Given the description of an element on the screen output the (x, y) to click on. 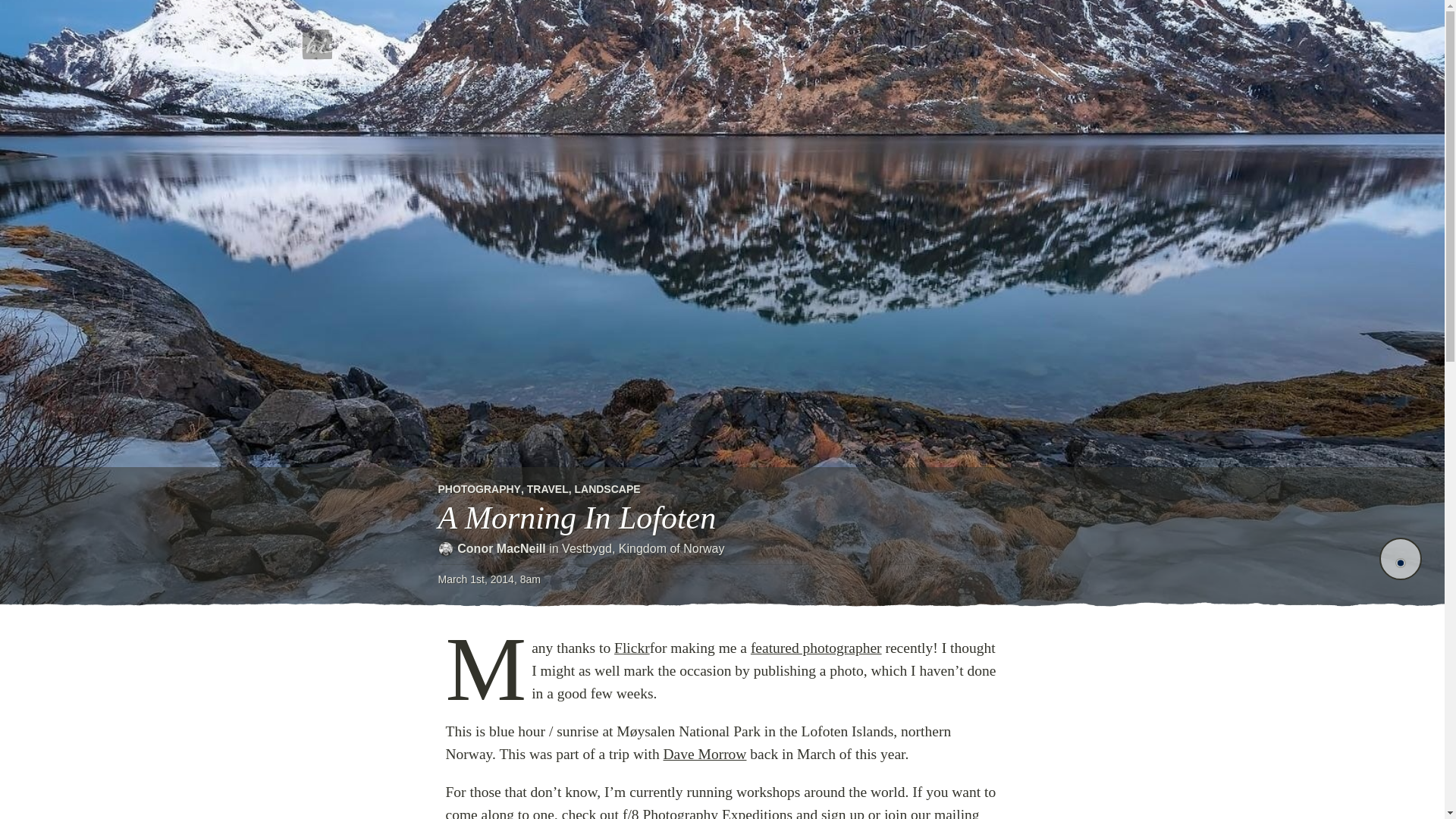
Conor MacNeill (500, 548)
TRAVEL (548, 489)
Dave Morrow (704, 754)
PHOTOGRAPHY (479, 489)
Flickr (631, 647)
mailing list (712, 812)
Vestbygd, Kingdom of Norway (642, 548)
LANDSCAPE (606, 489)
featured photographer (816, 647)
